Given the description of an element on the screen output the (x, y) to click on. 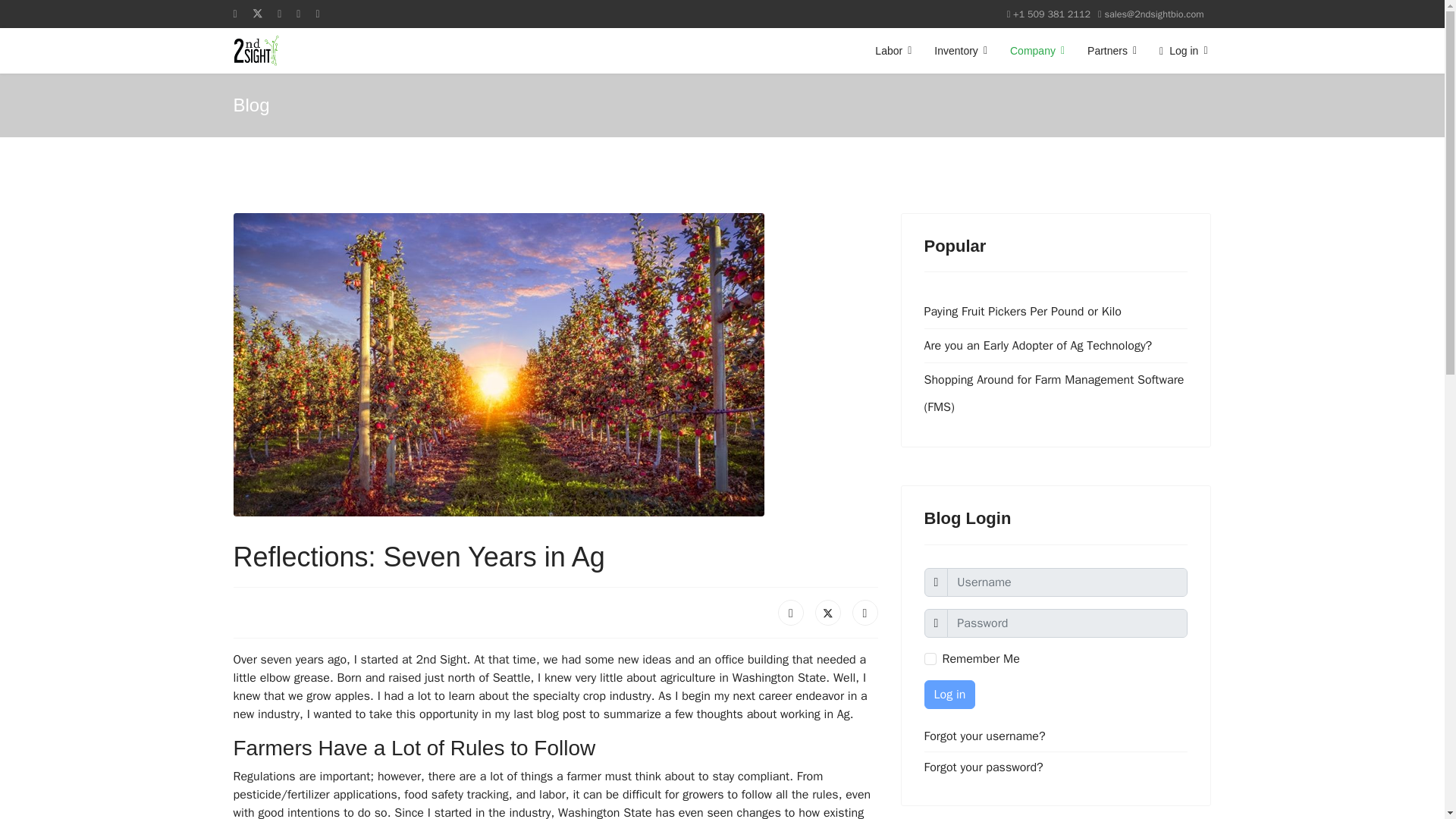
Partners (1111, 50)
LinkedIn (864, 612)
Paying Fruit Pickers Per Pound or Kilo (1055, 311)
Log in (1177, 50)
Inventory (960, 50)
Facebook (790, 612)
Are you an Early Adopter of Ag Technology? (1055, 345)
Company (1036, 50)
Labor (893, 50)
yes (929, 658)
